Given the description of an element on the screen output the (x, y) to click on. 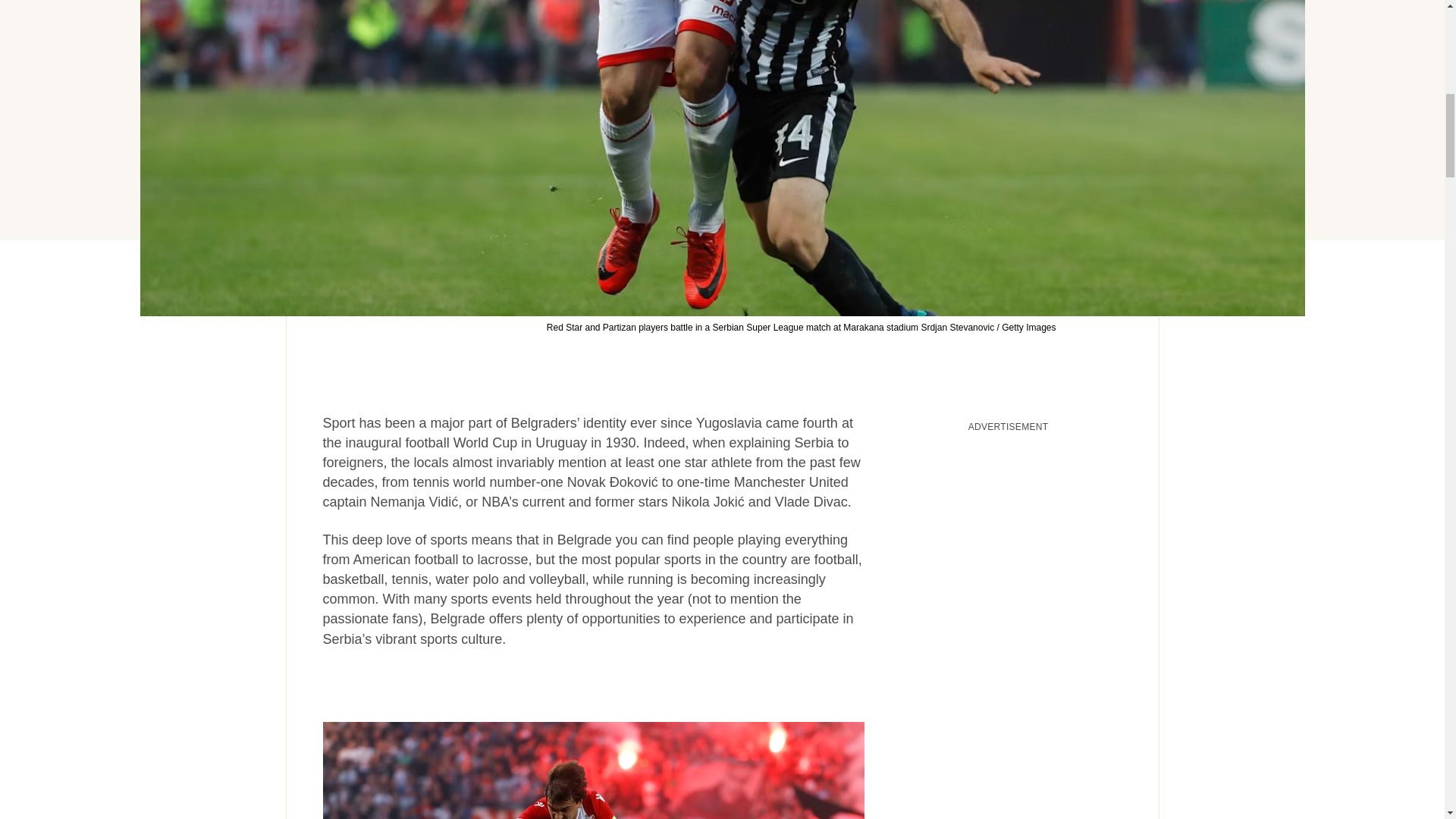
3rd party ad content (1008, 534)
